Given the description of an element on the screen output the (x, y) to click on. 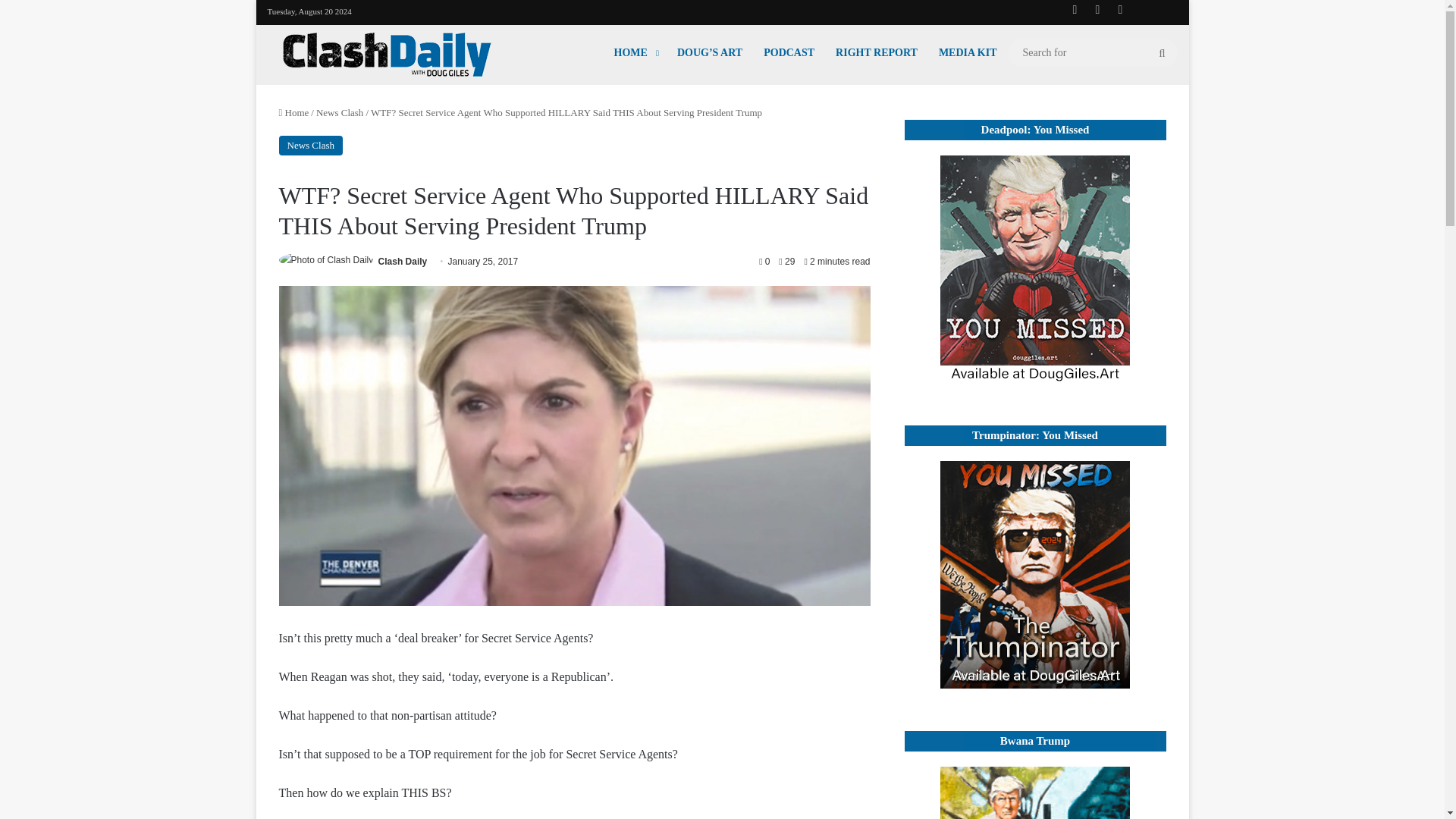
News Clash (338, 112)
Instagram (1119, 9)
Clash Daily (386, 53)
Search for (1091, 52)
Clash Daily (403, 261)
RIGHT REPORT (876, 52)
MEDIA KIT (967, 52)
HOME (635, 52)
Parler (1165, 9)
News Clash (310, 145)
